Given the description of an element on the screen output the (x, y) to click on. 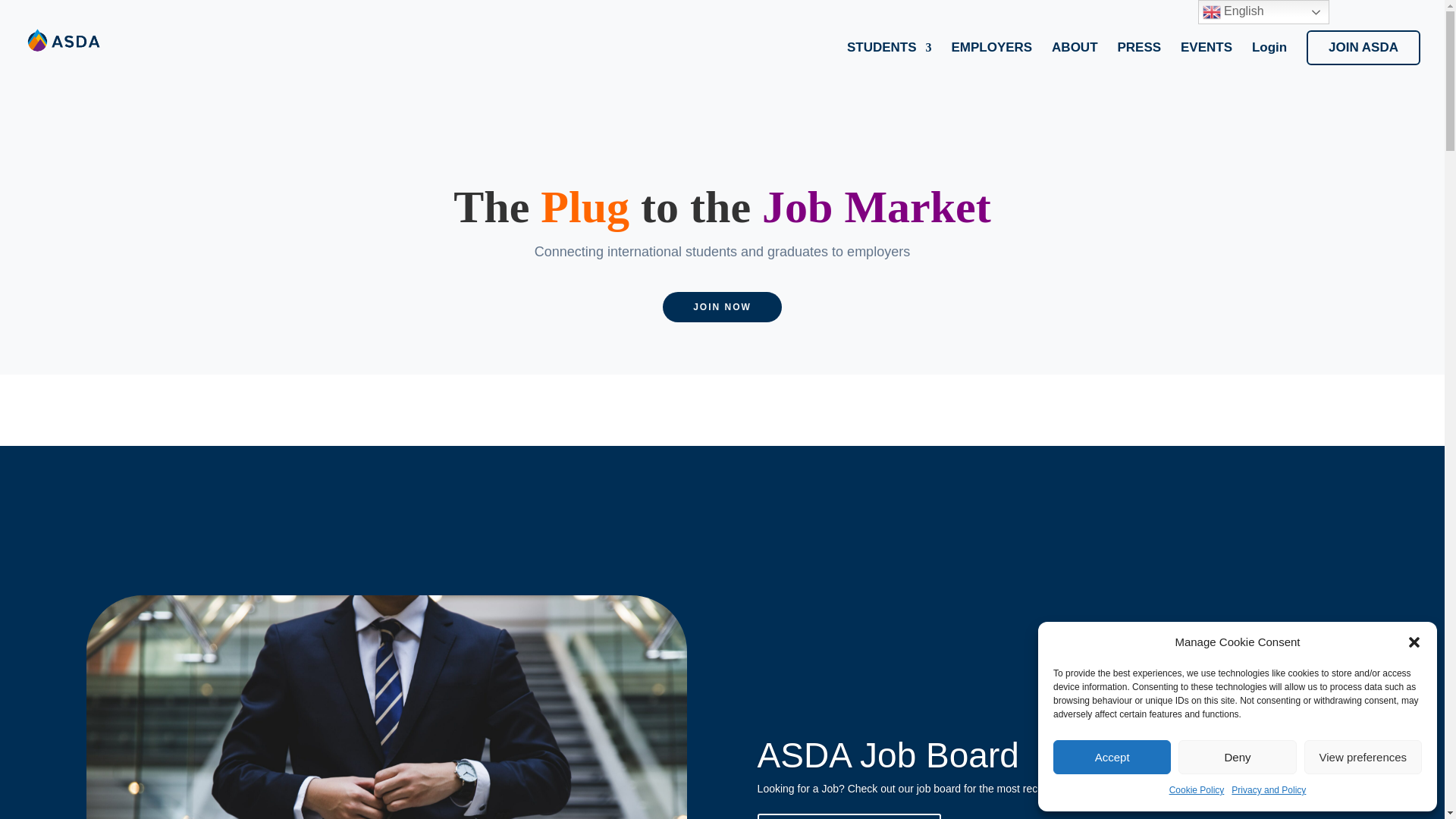
Cookie Policy (1196, 791)
Deny (1236, 756)
ABOUT (1074, 62)
ASDA Job Board (888, 754)
Accept (1111, 756)
EMPLOYERS (991, 62)
STUDENTS (889, 62)
Privacy and Policy (1268, 791)
JOIN ASDA (1363, 47)
JOIN NOW (721, 306)
